Given the description of an element on the screen output the (x, y) to click on. 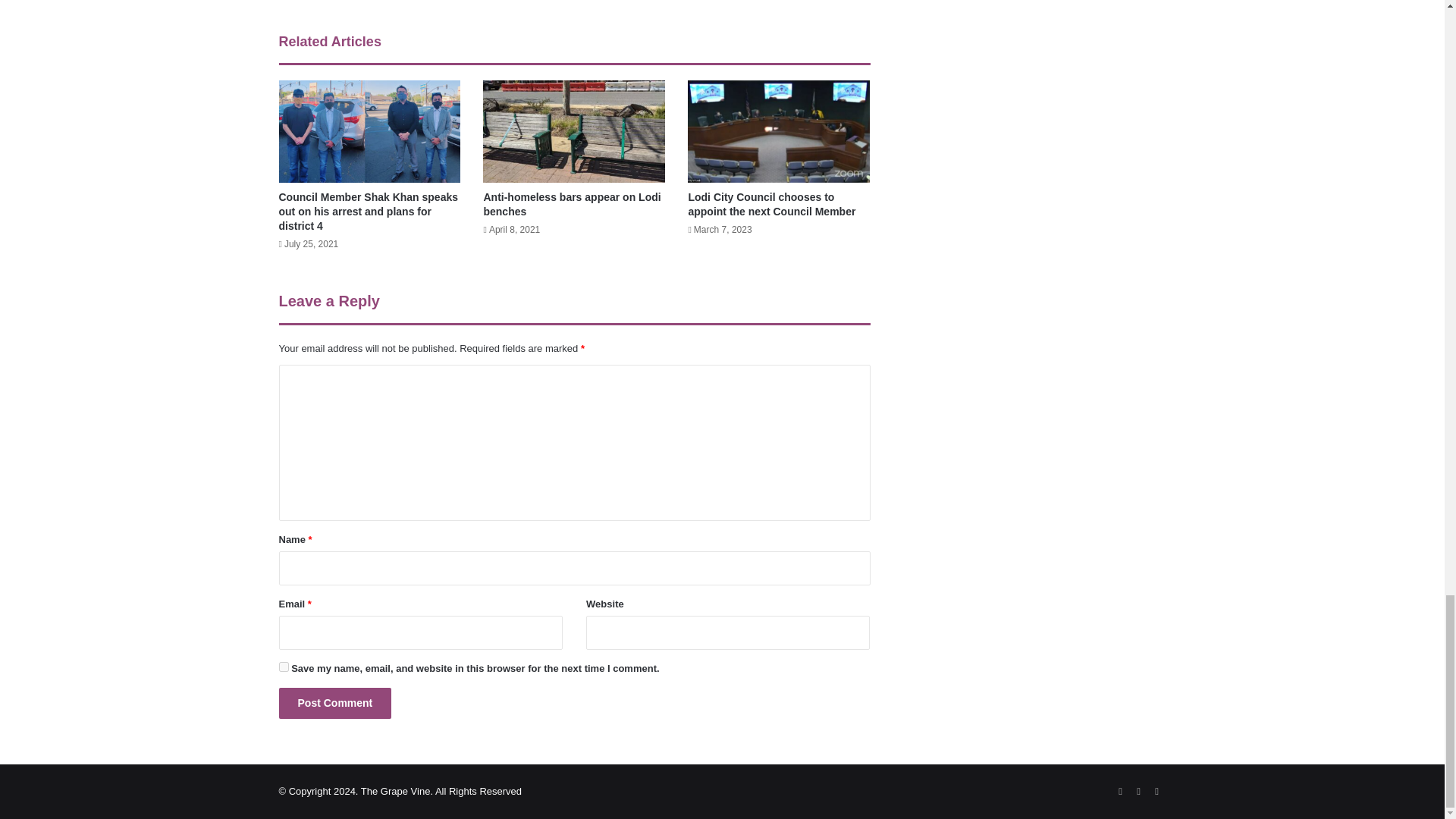
Post Comment (335, 703)
yes (283, 666)
